Given the description of an element on the screen output the (x, y) to click on. 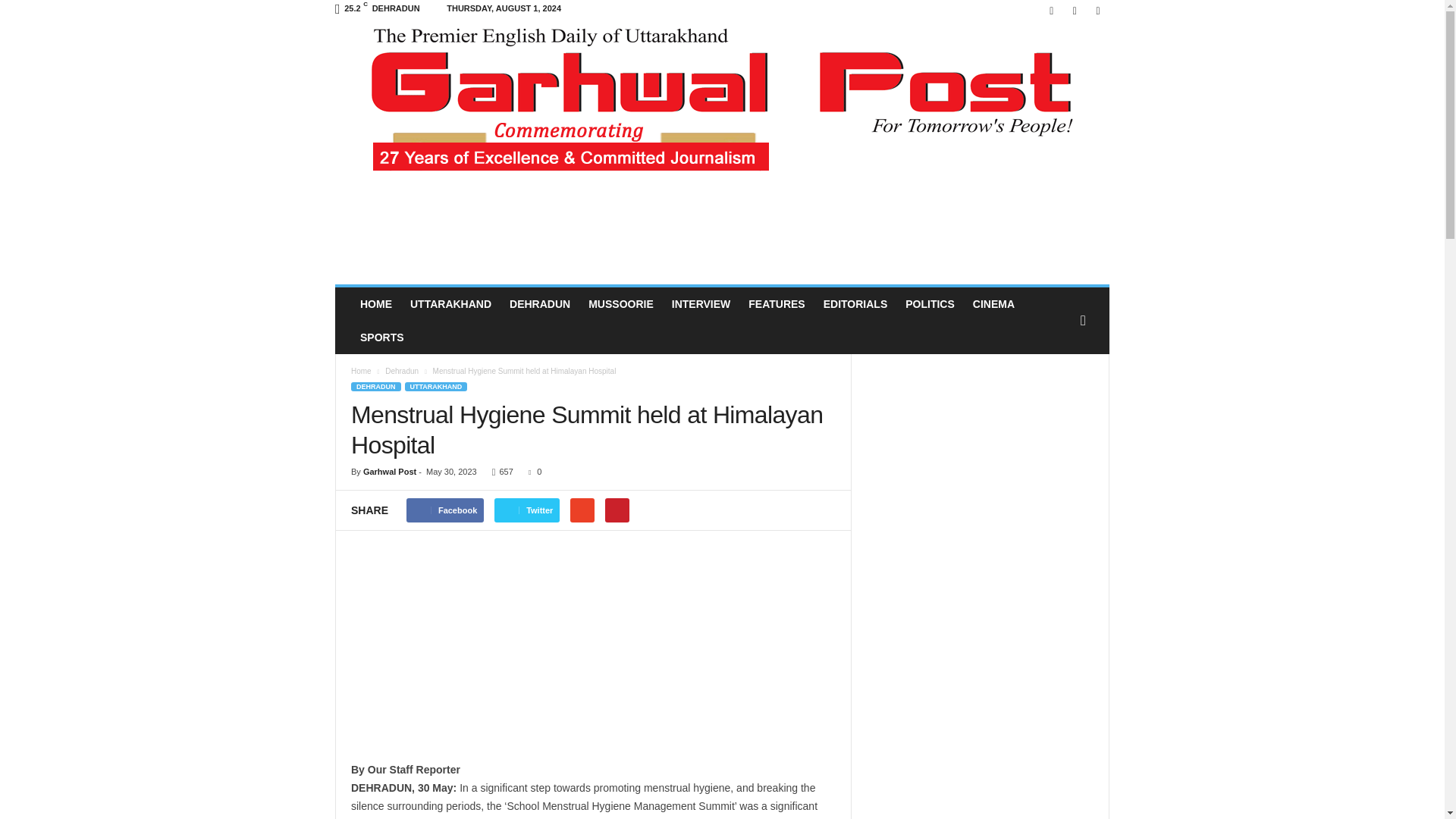
Home (361, 370)
EDITORIALS (854, 304)
INTERVIEW (700, 304)
UTTARAKHAND (450, 304)
Dehradun (402, 370)
MUSSOORIE (620, 304)
DEHRADUN (539, 304)
FEATURES (776, 304)
View all posts in Dehradun (402, 370)
CINEMA (993, 304)
SPORTS (381, 337)
HOME (375, 304)
POLITICS (929, 304)
